Given the description of an element on the screen output the (x, y) to click on. 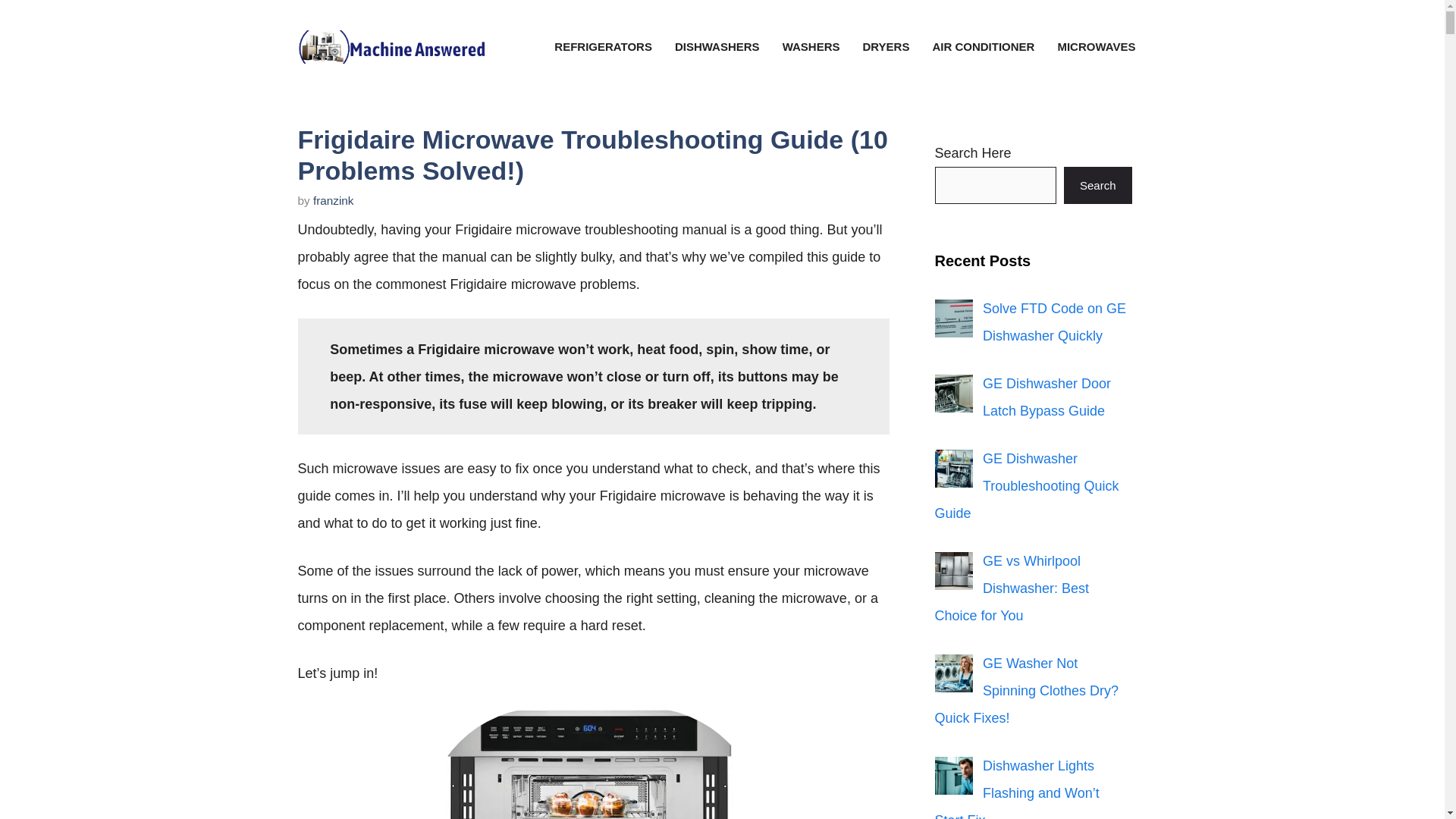
View all posts by franzink (333, 200)
WASHERS (811, 46)
DRYERS (885, 46)
DISHWASHERS (717, 46)
franzink (333, 200)
AIR CONDITIONER (982, 46)
REFRIGERATORS (603, 46)
MICROWAVES (1096, 46)
